Given the description of an element on the screen output the (x, y) to click on. 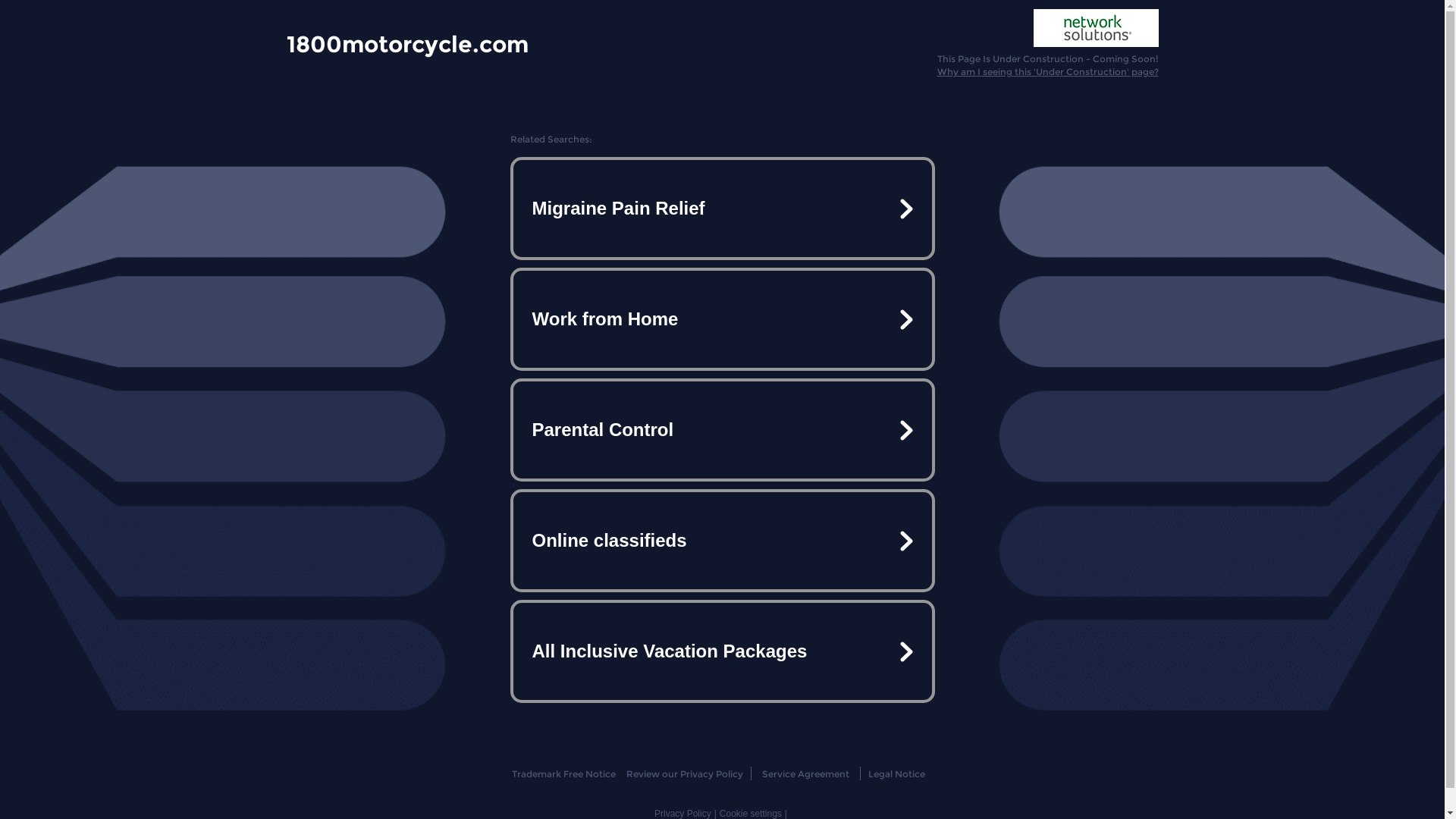
Trademark Free Notice Element type: text (563, 773)
Legal Notice Element type: text (896, 773)
All Inclusive Vacation Packages Element type: text (721, 650)
Why am I seeing this 'Under Construction' page? Element type: text (1047, 71)
1800motorcycle.com Element type: text (407, 43)
Parental Control Element type: text (721, 429)
Migraine Pain Relief Element type: text (721, 208)
Work from Home Element type: text (721, 318)
Online classifieds Element type: text (721, 540)
Review our Privacy Policy Element type: text (684, 773)
Service Agreement Element type: text (805, 773)
